Given the description of an element on the screen output the (x, y) to click on. 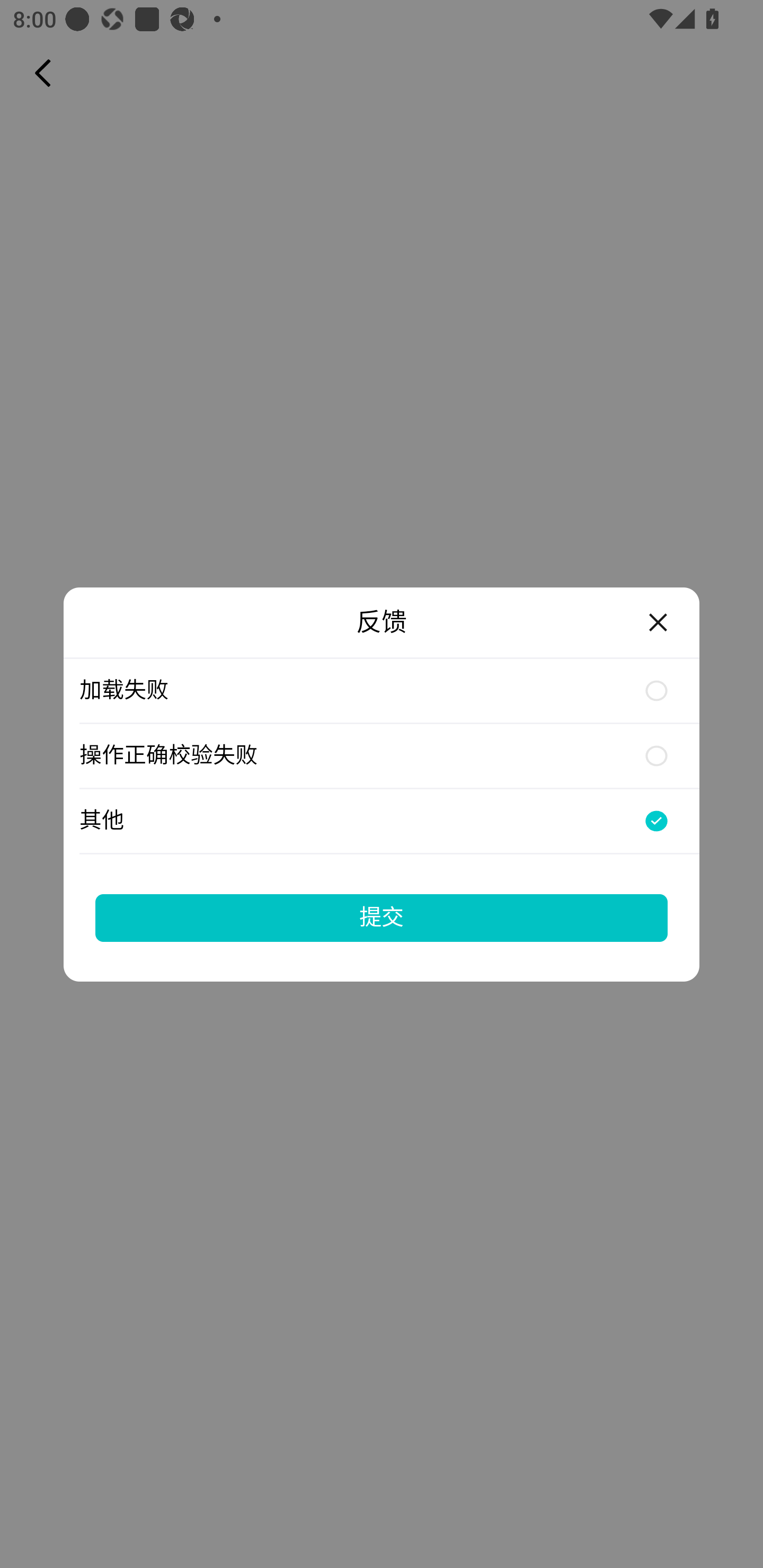
提交 (381, 917)
